Given the description of an element on the screen output the (x, y) to click on. 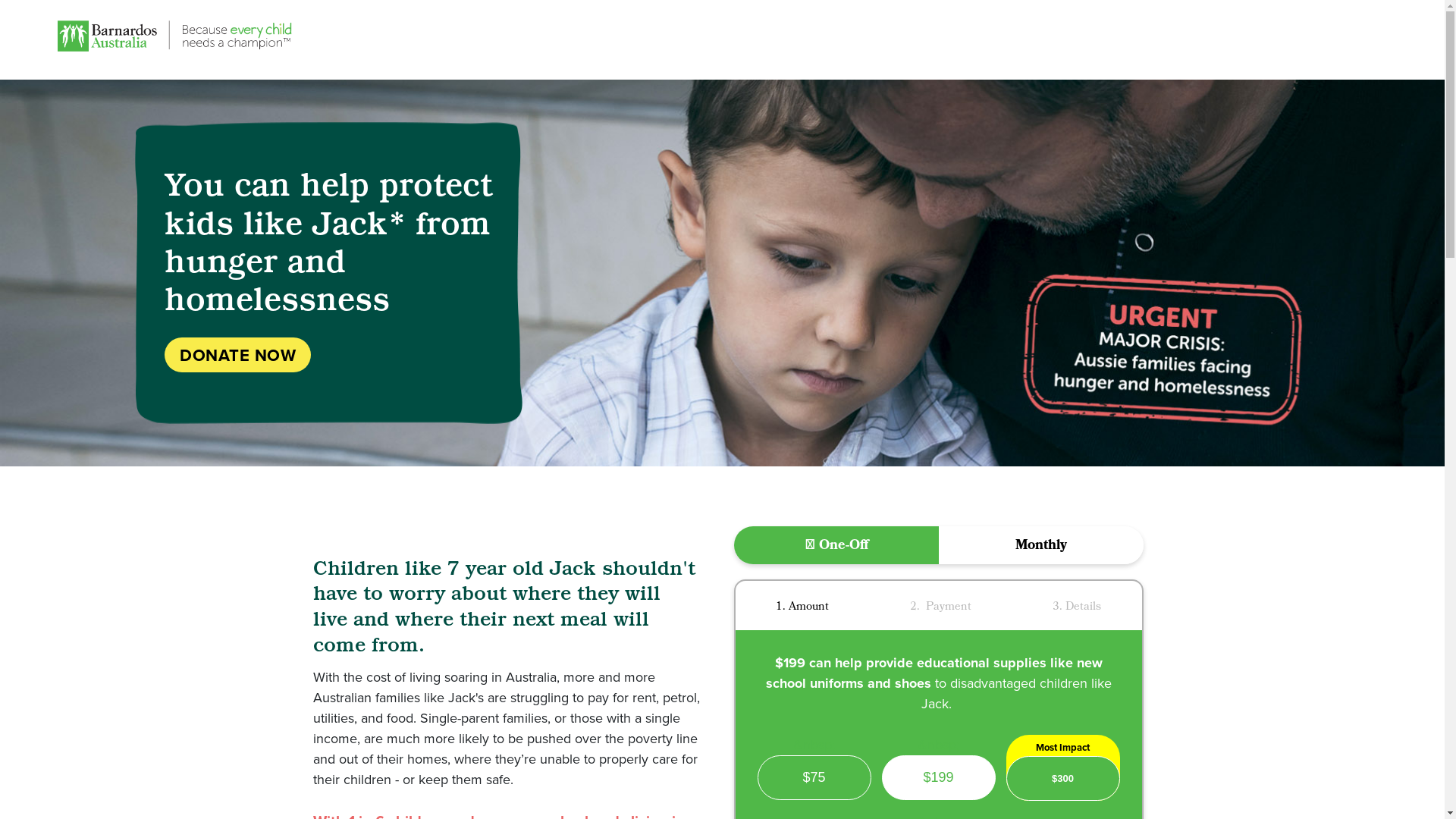
1. Amount Element type: text (802, 605)
3. Details Element type: text (1076, 605)
2.  Payment Element type: text (940, 605)
DONATE NOW Element type: text (237, 354)
